Given the description of an element on the screen output the (x, y) to click on. 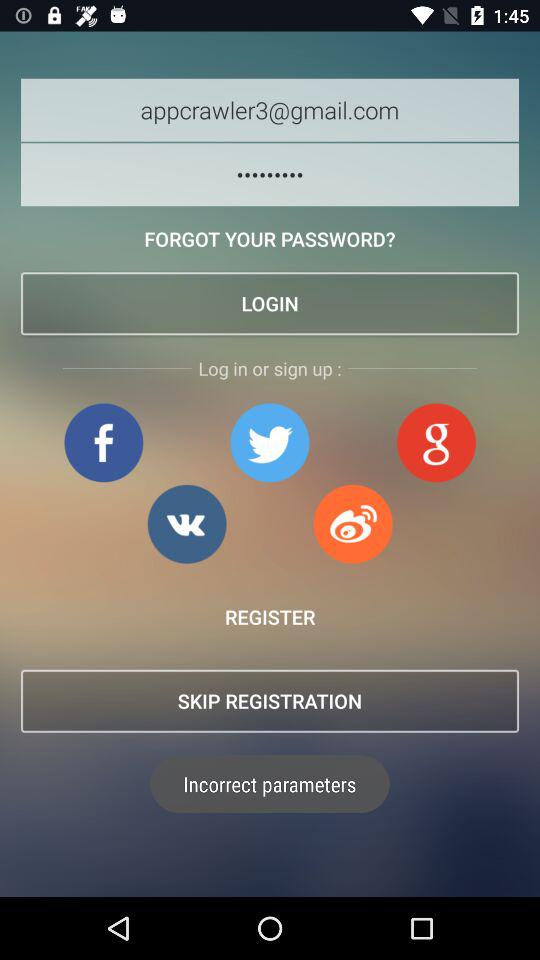
google option (436, 442)
